Given the description of an element on the screen output the (x, y) to click on. 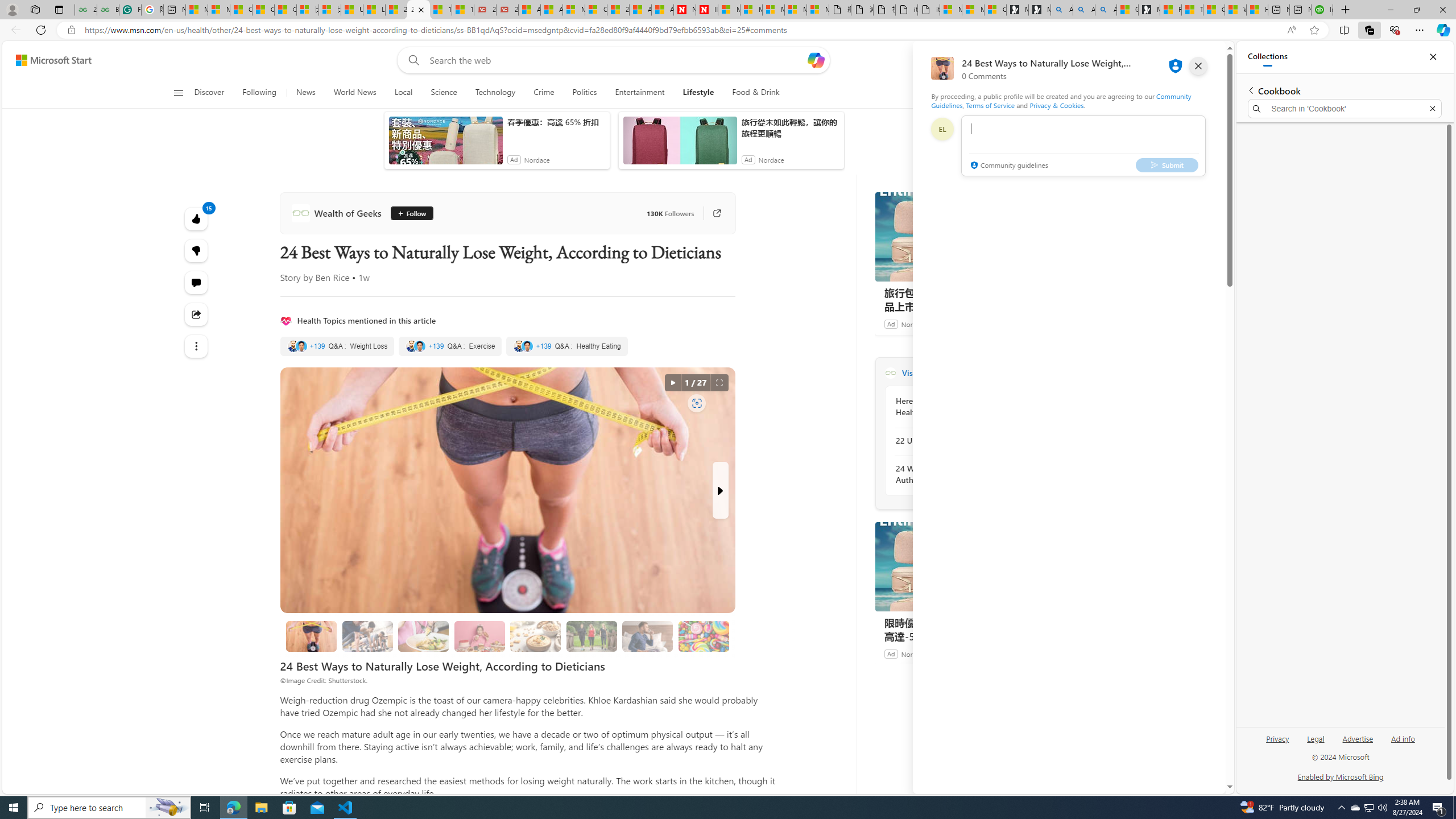
4. Soluble Fiber Is Your Friend (535, 635)
Community guidelines (1008, 165)
15 Like (196, 218)
